Given the description of an element on the screen output the (x, y) to click on. 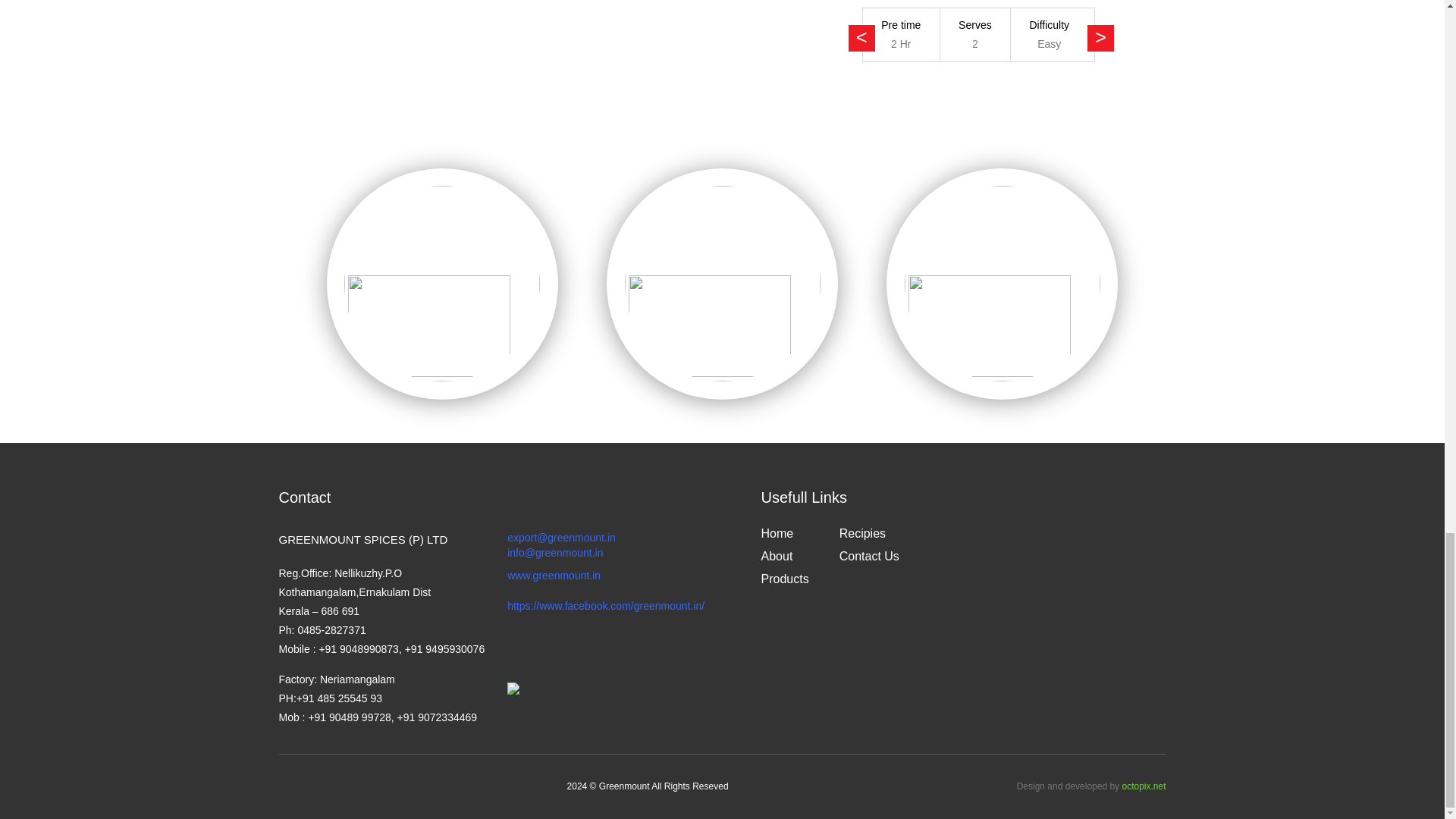
Facebook (605, 605)
